Given the description of an element on the screen output the (x, y) to click on. 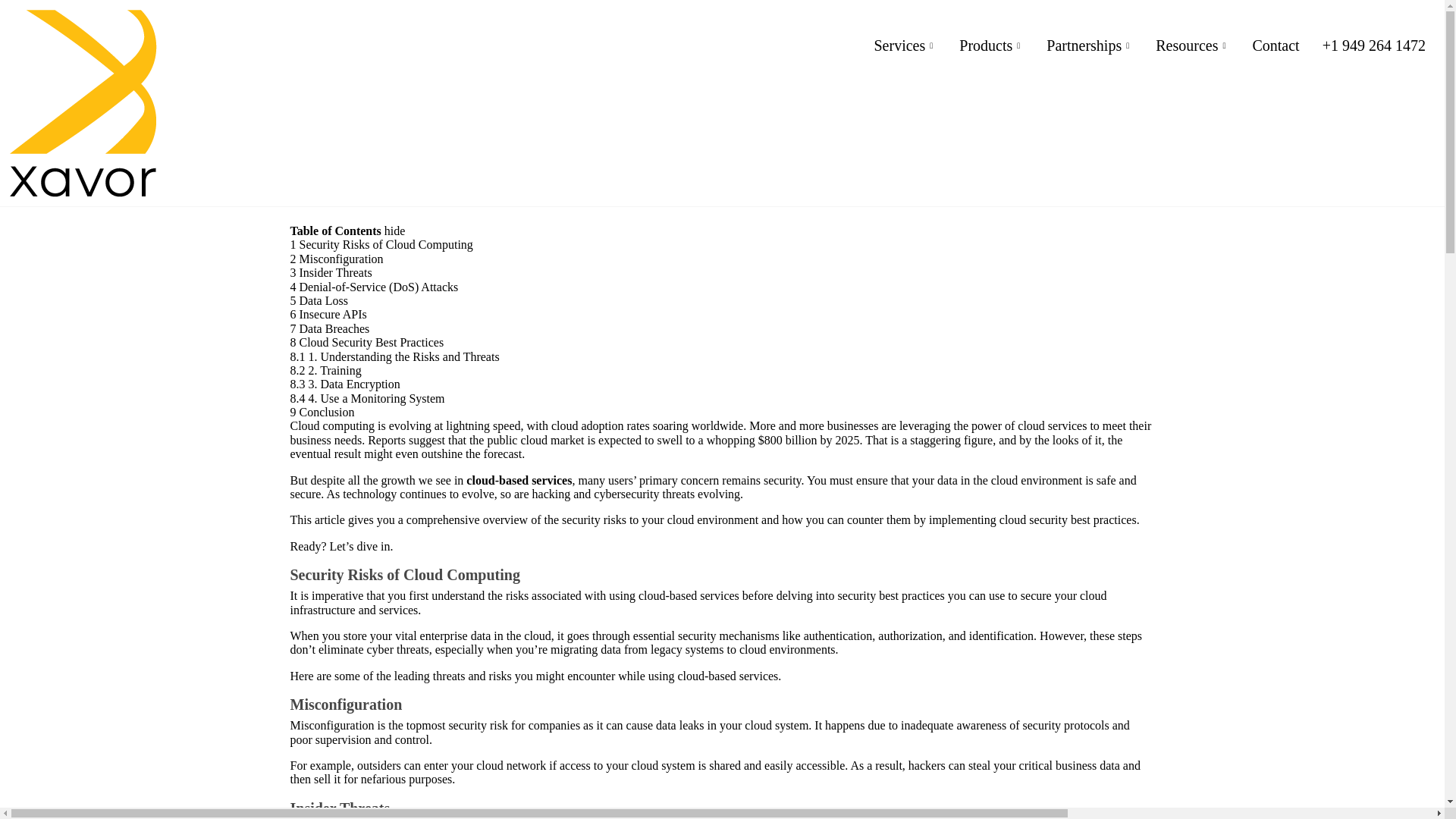
Resources (1192, 45)
Contact (1275, 45)
Products (991, 45)
Services (904, 45)
Partnerships (1089, 45)
